Given the description of an element on the screen output the (x, y) to click on. 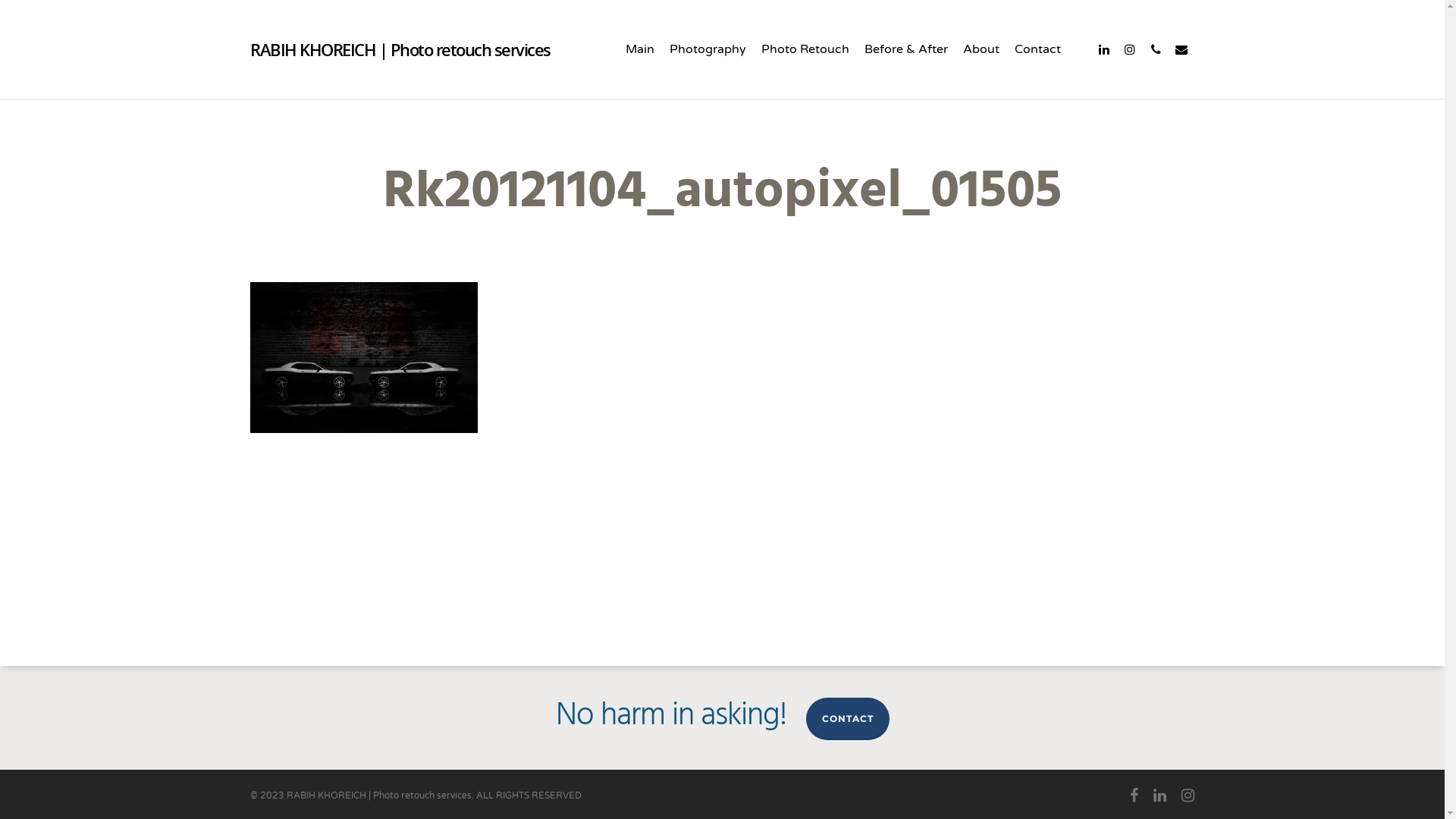
Main Element type: text (639, 67)
Before & After Element type: text (905, 67)
Photography Element type: text (707, 67)
RABIH KHOREICH | Photo retouch services Element type: text (400, 48)
About Element type: text (981, 67)
CONTACT Element type: text (846, 718)
Photo Retouch Element type: text (805, 67)
Contact Element type: text (1037, 67)
